Given the description of an element on the screen output the (x, y) to click on. 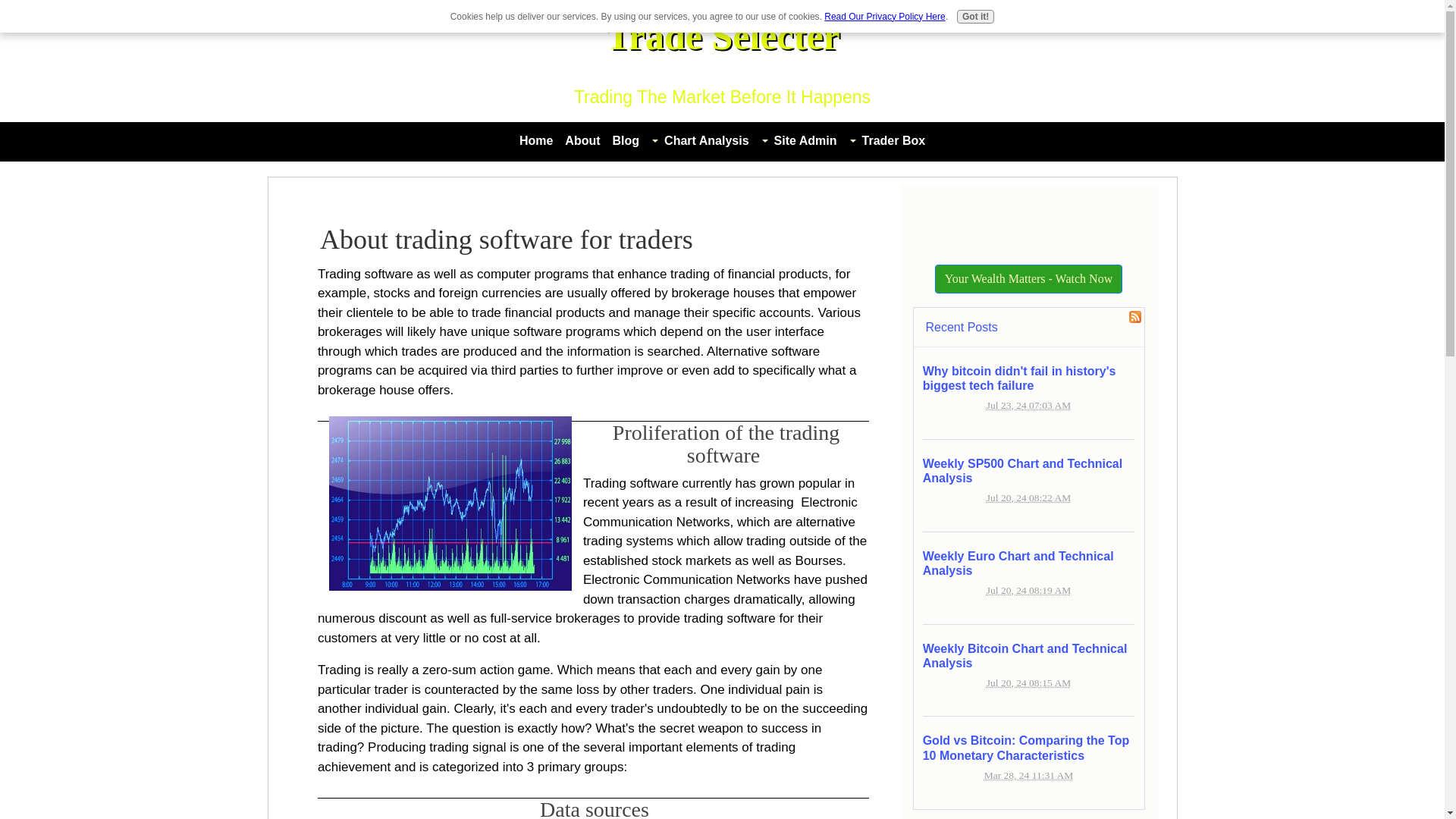
2024-03-28T11:31:41-0400 (1029, 775)
Blog (626, 140)
Trading software (450, 503)
2024-07-20T08:15:44-0400 (1028, 682)
2024-07-20T08:19:12-0400 (1028, 590)
About (582, 140)
Home (536, 140)
2024-07-20T08:22:15-0400 (1028, 497)
2024-07-23T07:03:43-0400 (1028, 405)
Trade Selecter (722, 36)
